Given the description of an element on the screen output the (x, y) to click on. 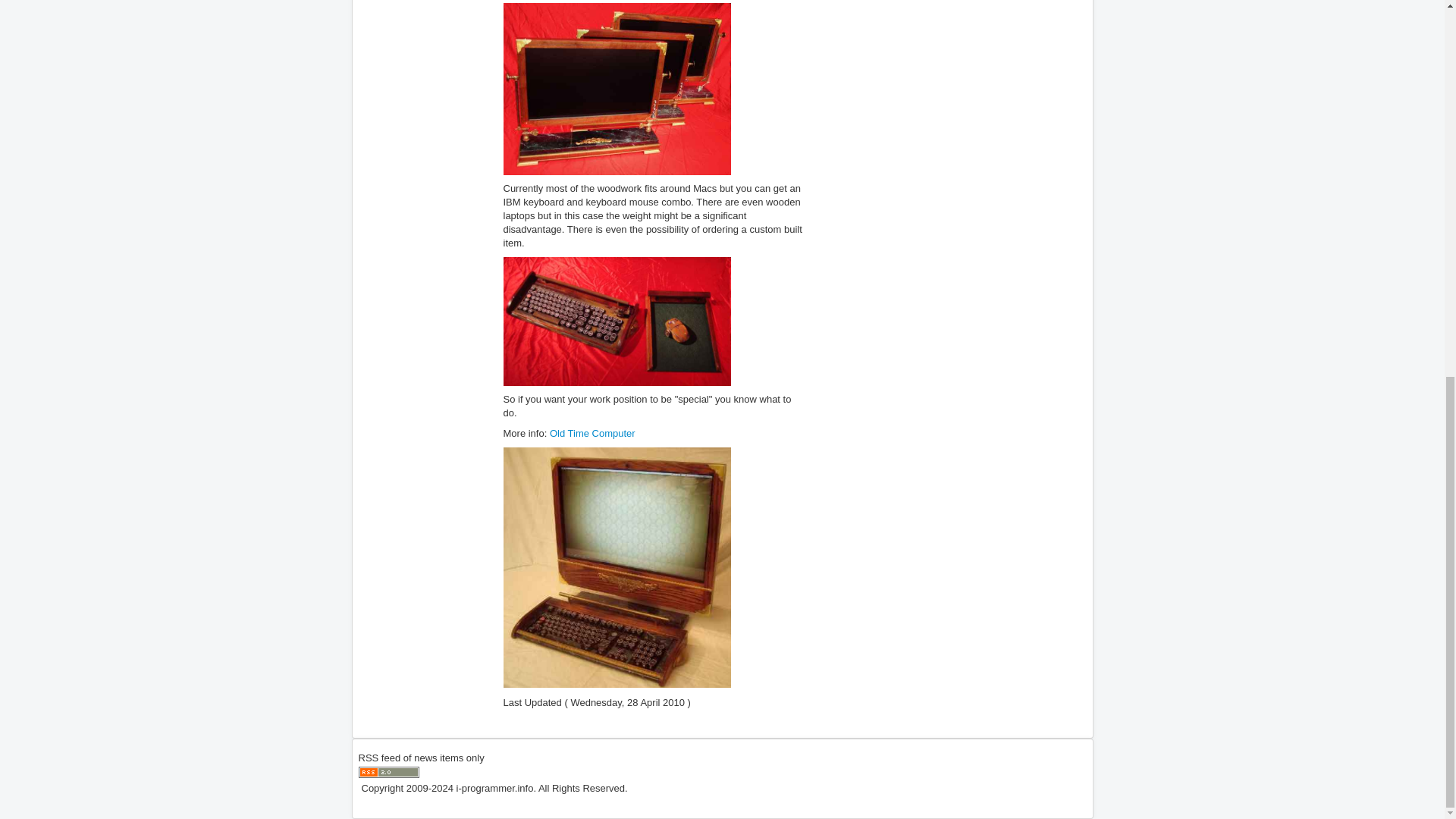
I Programmer News (388, 772)
